Given the description of an element on the screen output the (x, y) to click on. 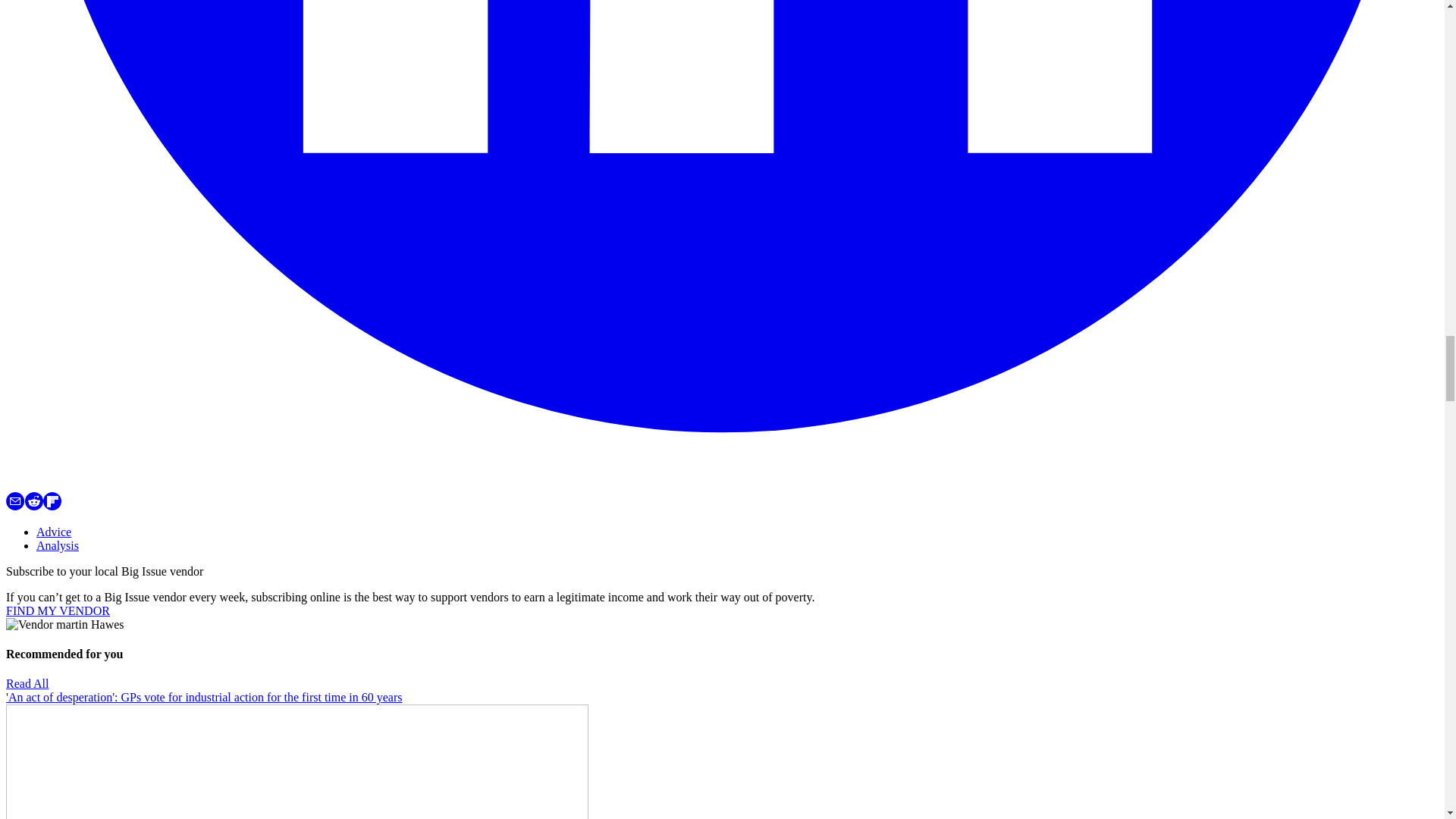
FIND MY VENDOR (57, 610)
